Given the description of an element on the screen output the (x, y) to click on. 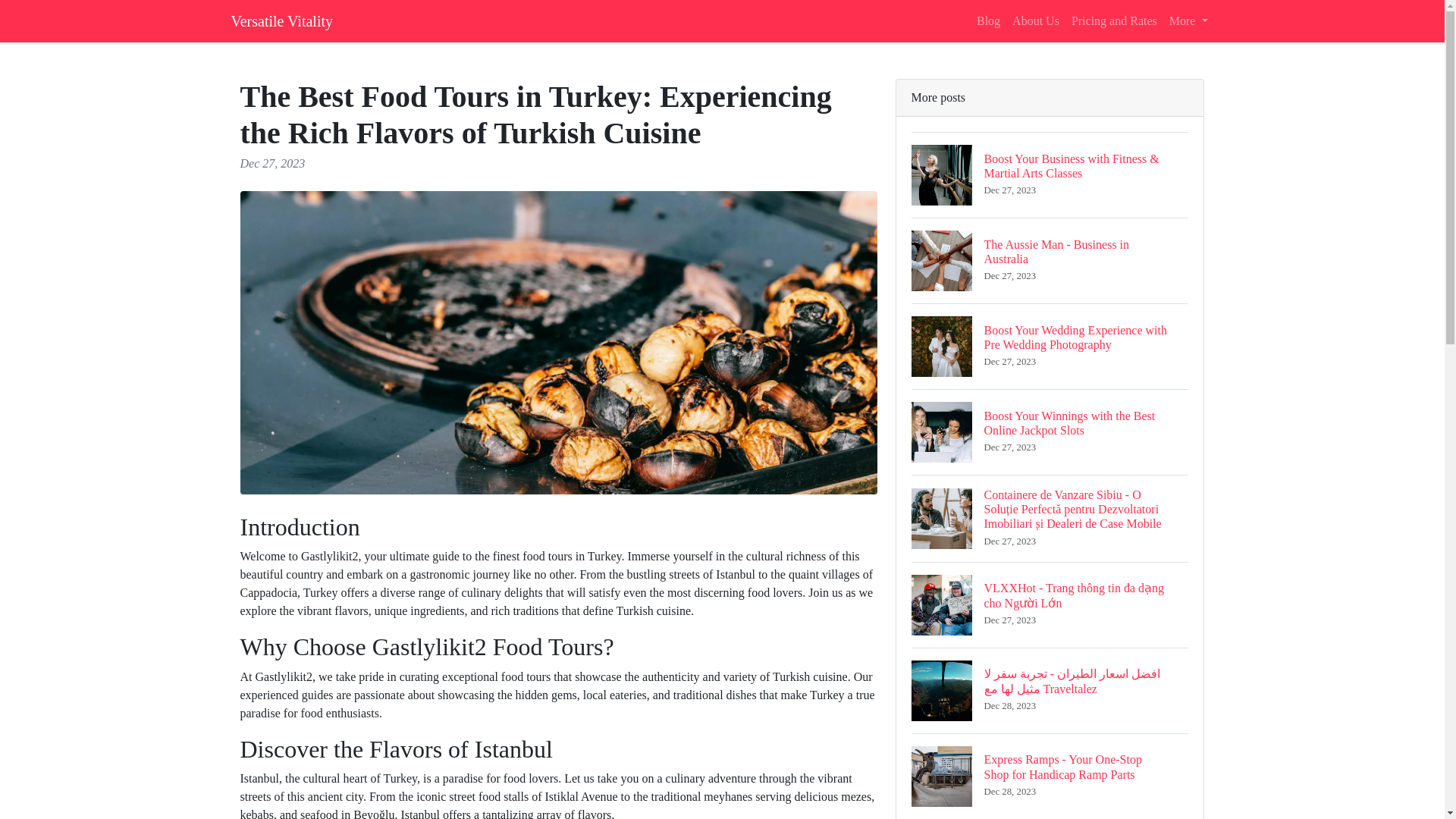
Blog (1050, 260)
More (988, 20)
Pricing and Rates (1188, 20)
Versatile Vitality (1114, 20)
About Us (281, 20)
